Given the description of an element on the screen output the (x, y) to click on. 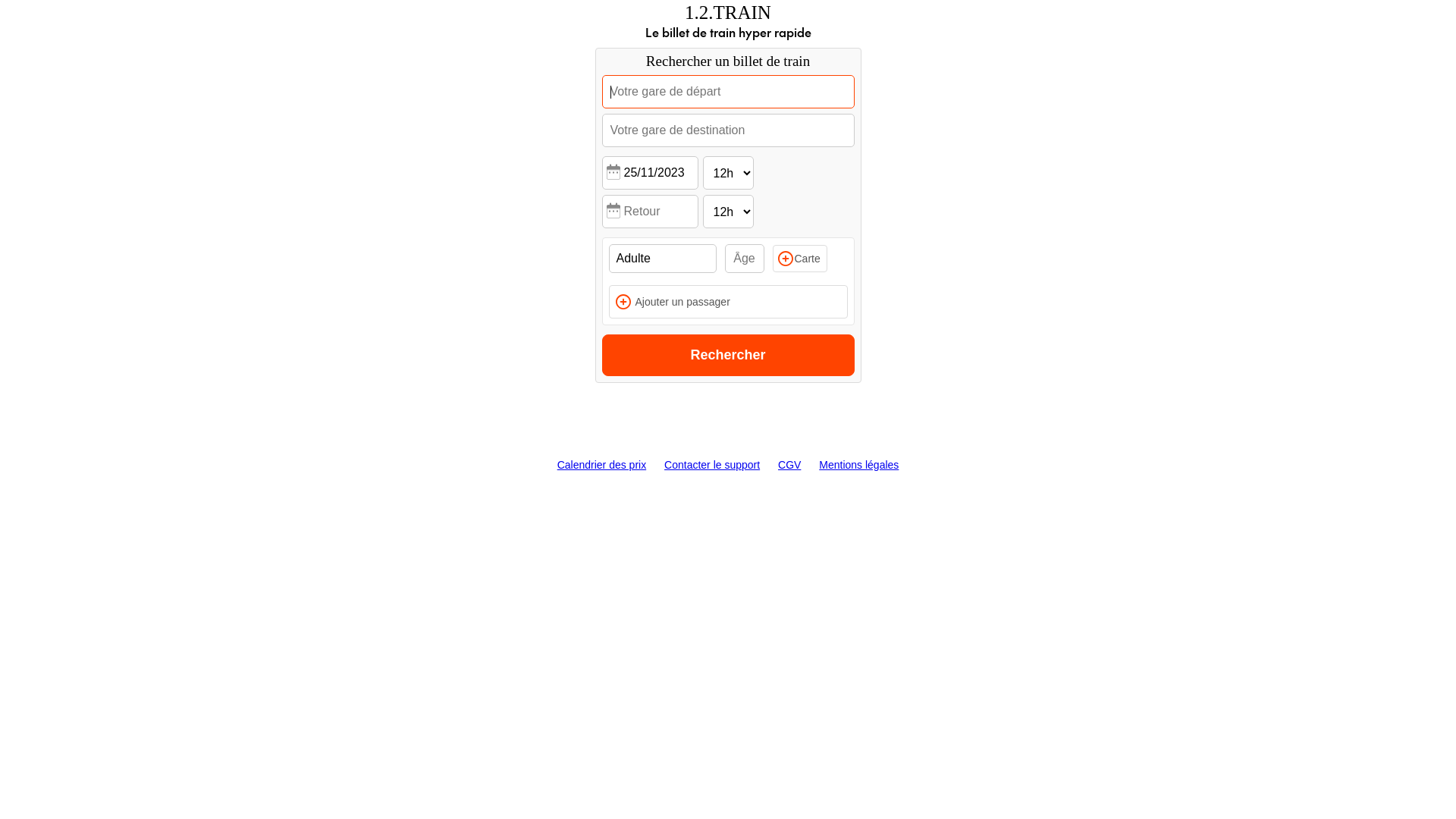
1.2.TRAIN Element type: text (727, 12)
Rechercher Element type: text (728, 355)
CGV Element type: text (789, 464)
Calendrier des prix Element type: text (601, 464)
Contacter le support Element type: text (711, 464)
